Given the description of an element on the screen output the (x, y) to click on. 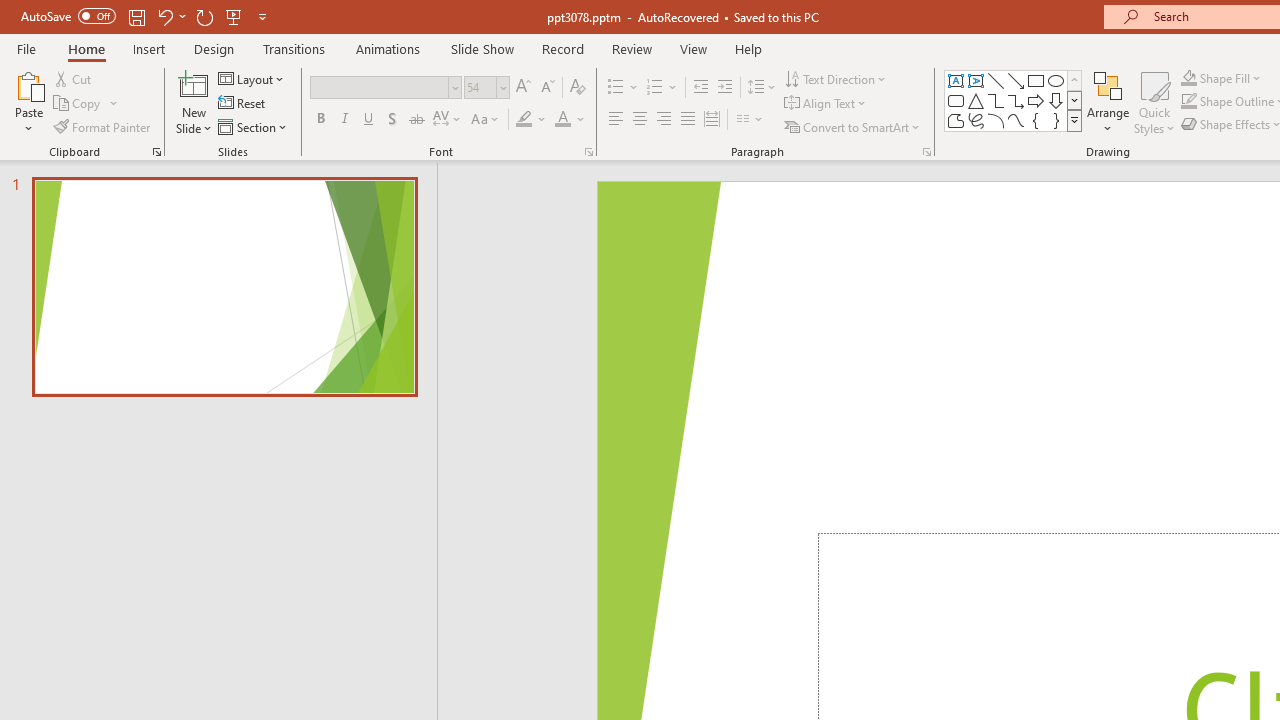
Shape Fill Dark Green, Accent 2 (1188, 78)
